Given the description of an element on the screen output the (x, y) to click on. 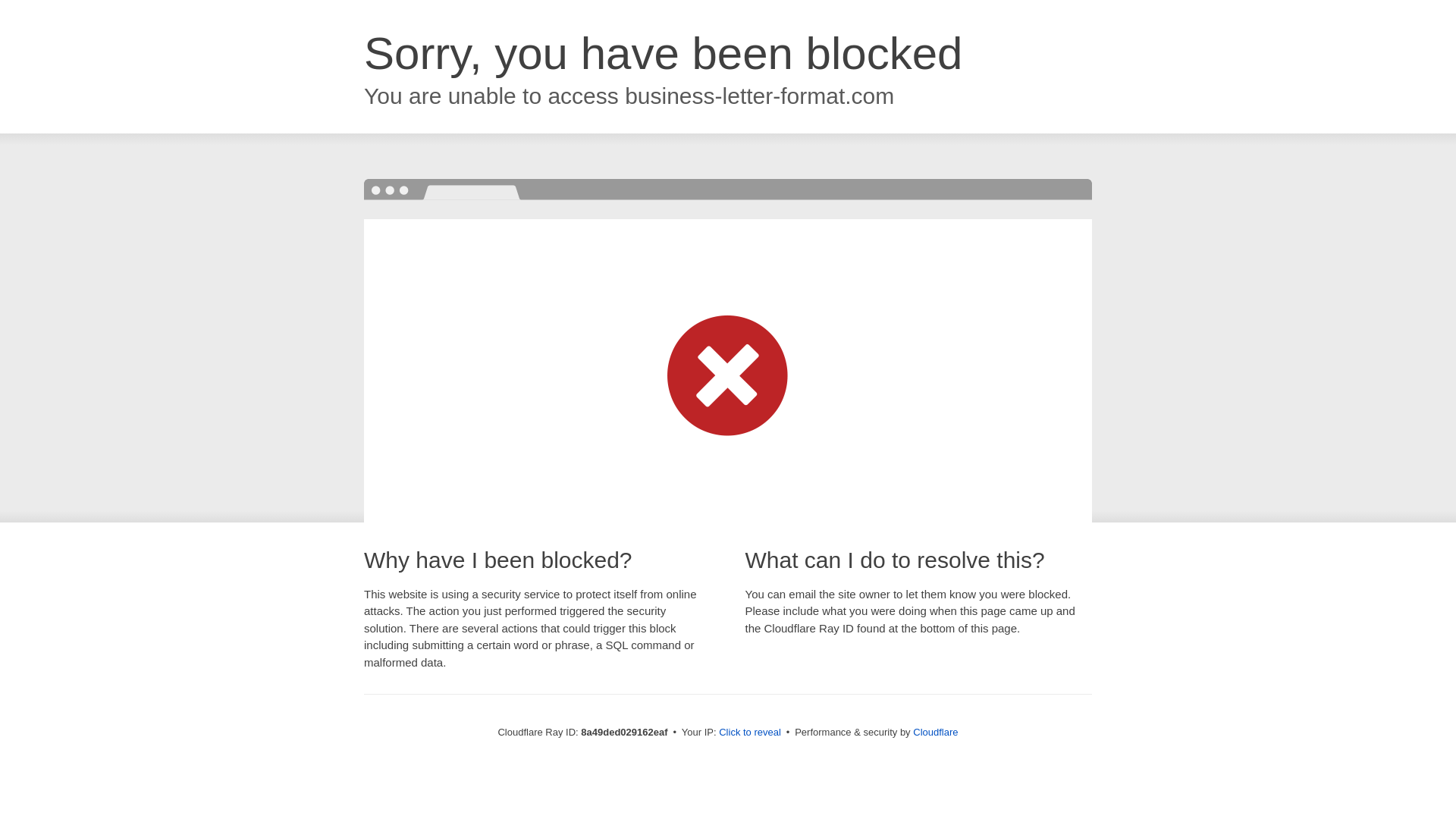
Click to reveal (749, 732)
Cloudflare (935, 731)
